Given the description of an element on the screen output the (x, y) to click on. 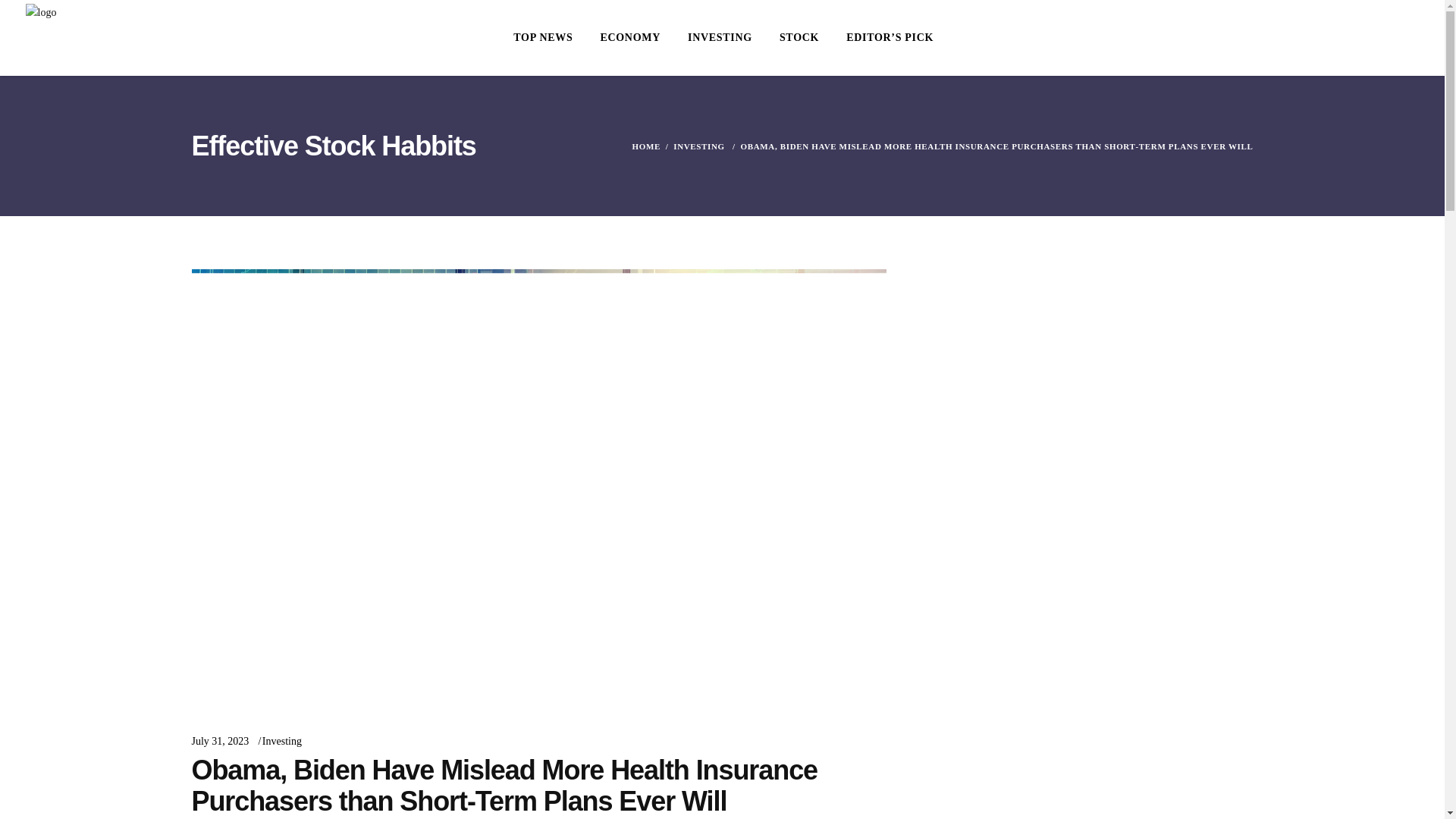
HOME (645, 146)
INVESTING (698, 146)
ECONOMY (630, 38)
Investing (281, 740)
July 31, 2023 (219, 740)
INVESTING (719, 38)
TOP NEWS (542, 38)
